Given the description of an element on the screen output the (x, y) to click on. 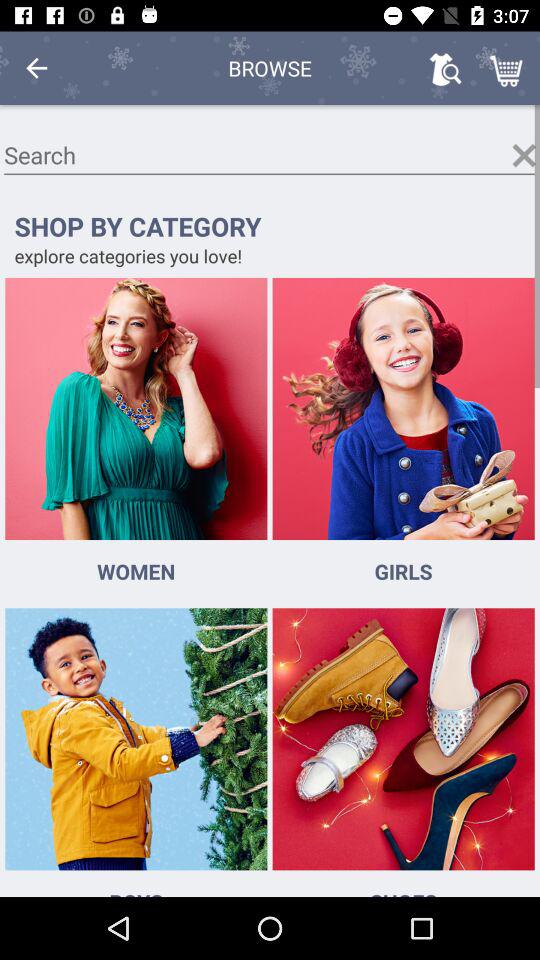
close the search window (524, 155)
